Given the description of an element on the screen output the (x, y) to click on. 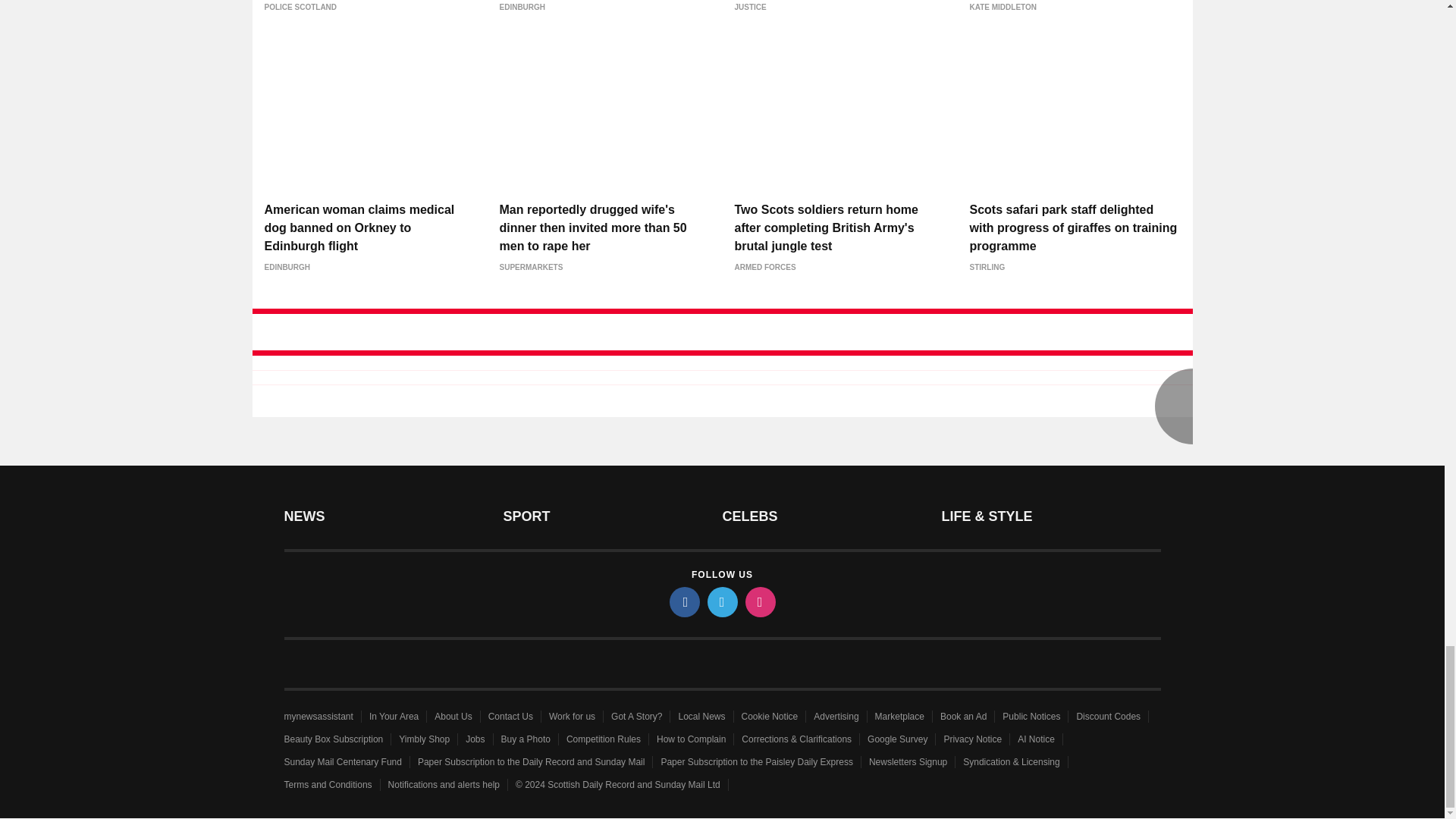
twitter (721, 602)
facebook (683, 602)
instagram (759, 602)
